Given the description of an element on the screen output the (x, y) to click on. 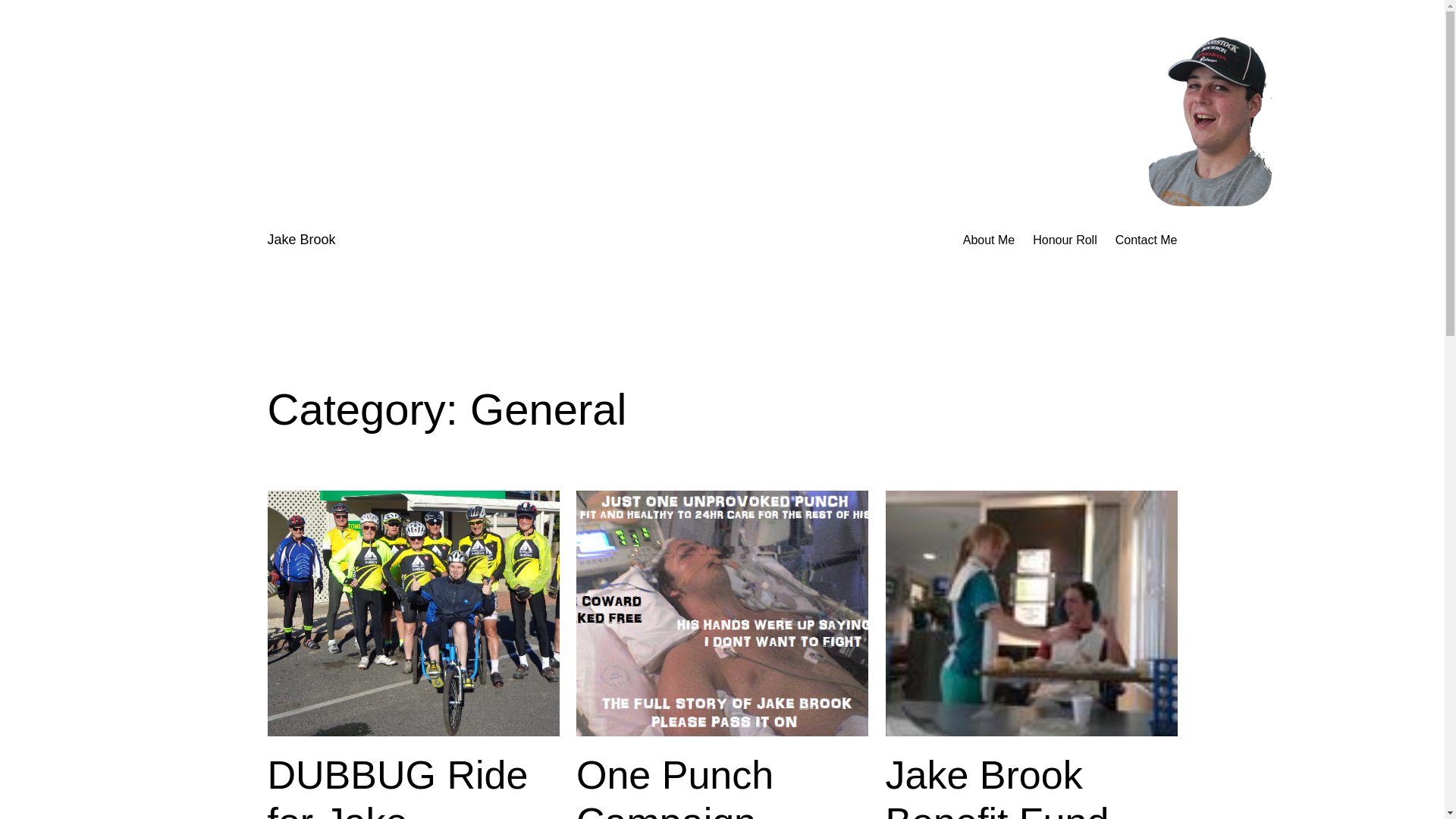
Jake Brook Element type: text (300, 239)
Honour Roll Element type: text (1064, 240)
About Me Element type: text (988, 240)
Contact Me Element type: text (1146, 240)
